Given the description of an element on the screen output the (x, y) to click on. 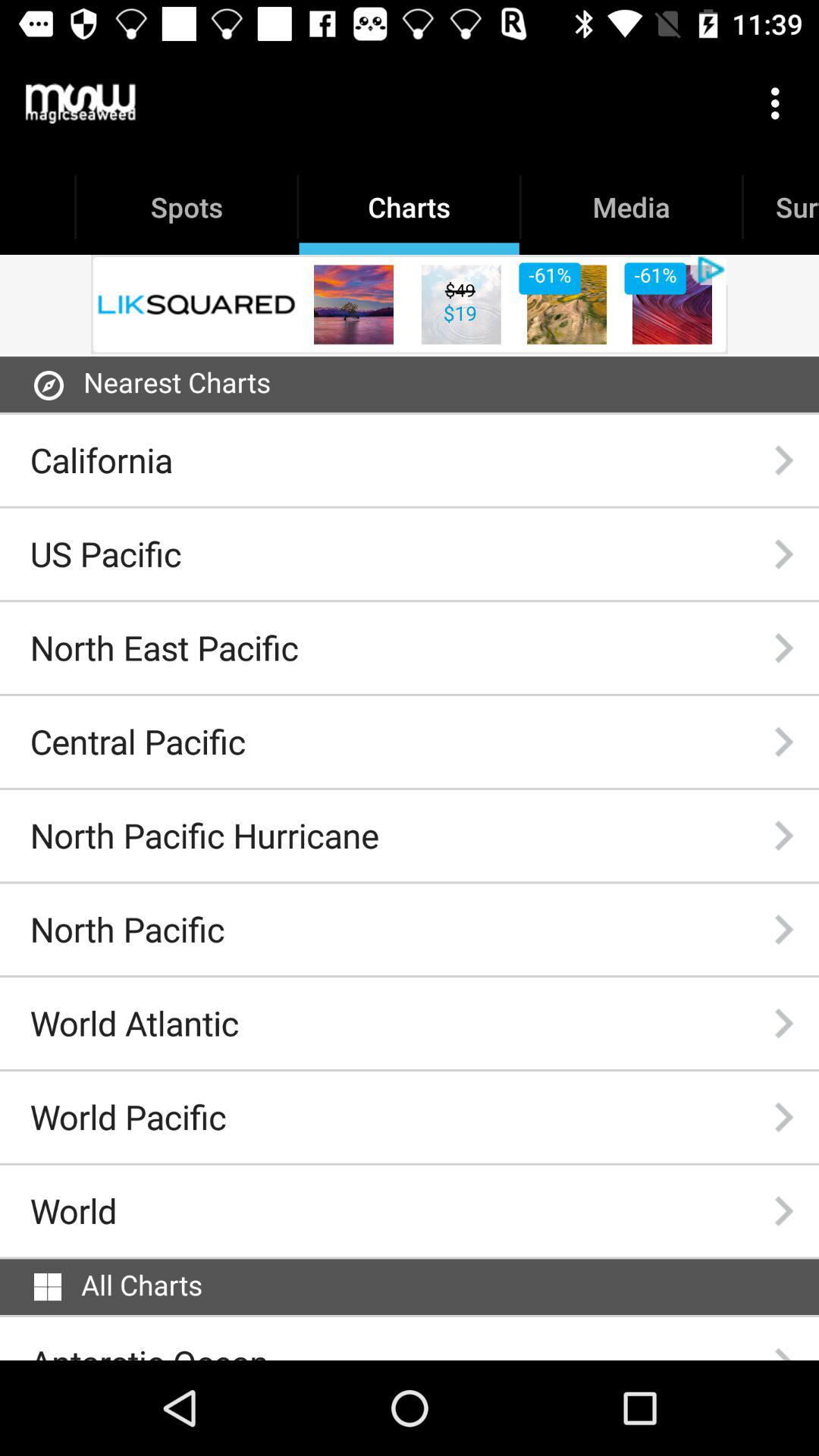
press the item next to us pacific icon (784, 554)
